Given the description of an element on the screen output the (x, y) to click on. 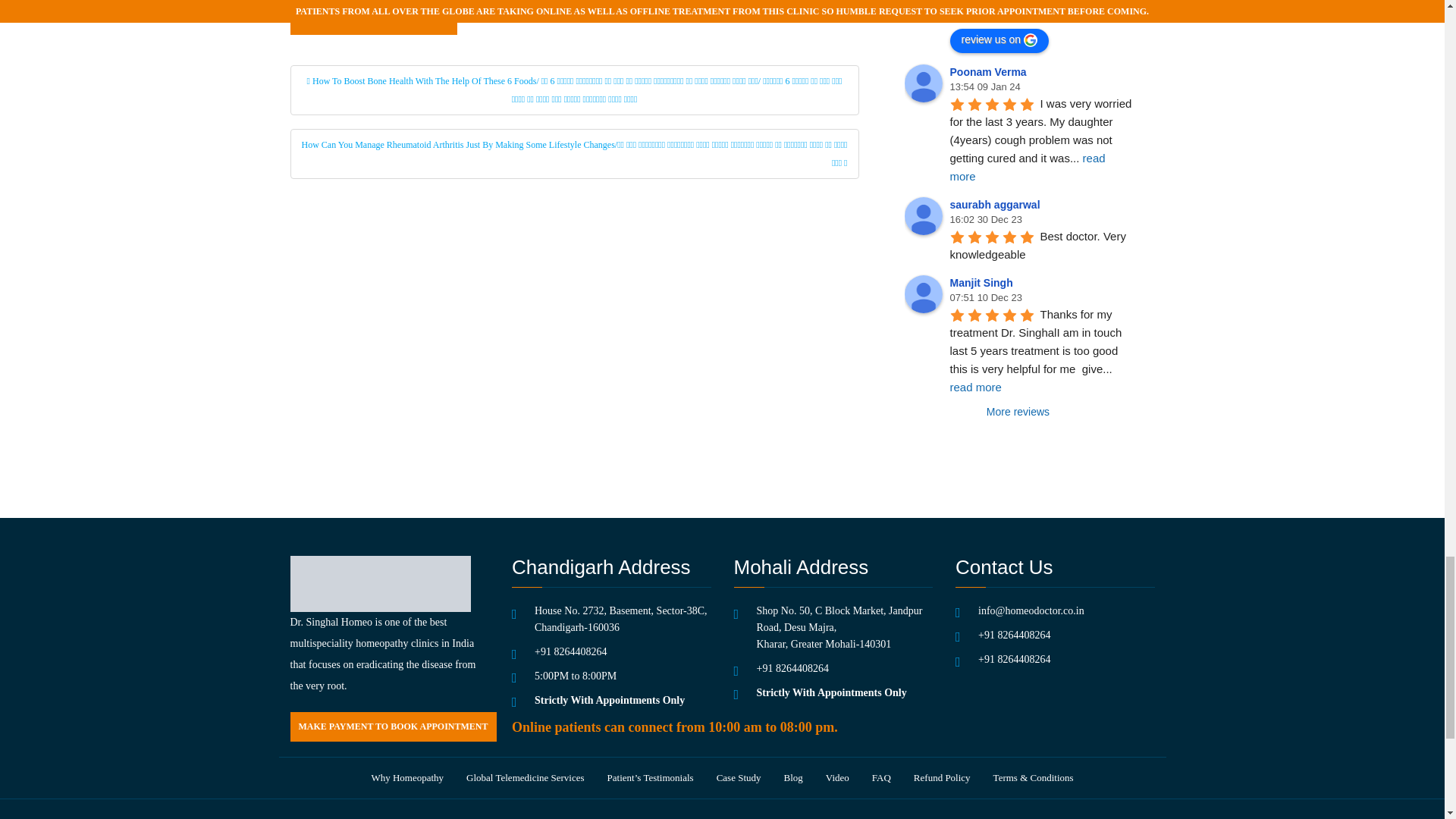
saurabh aggarwal (923, 216)
Post Comment (373, 17)
Manjit Singh (923, 293)
Poonam Verma (923, 83)
powered by Google (1003, 8)
